Given the description of an element on the screen output the (x, y) to click on. 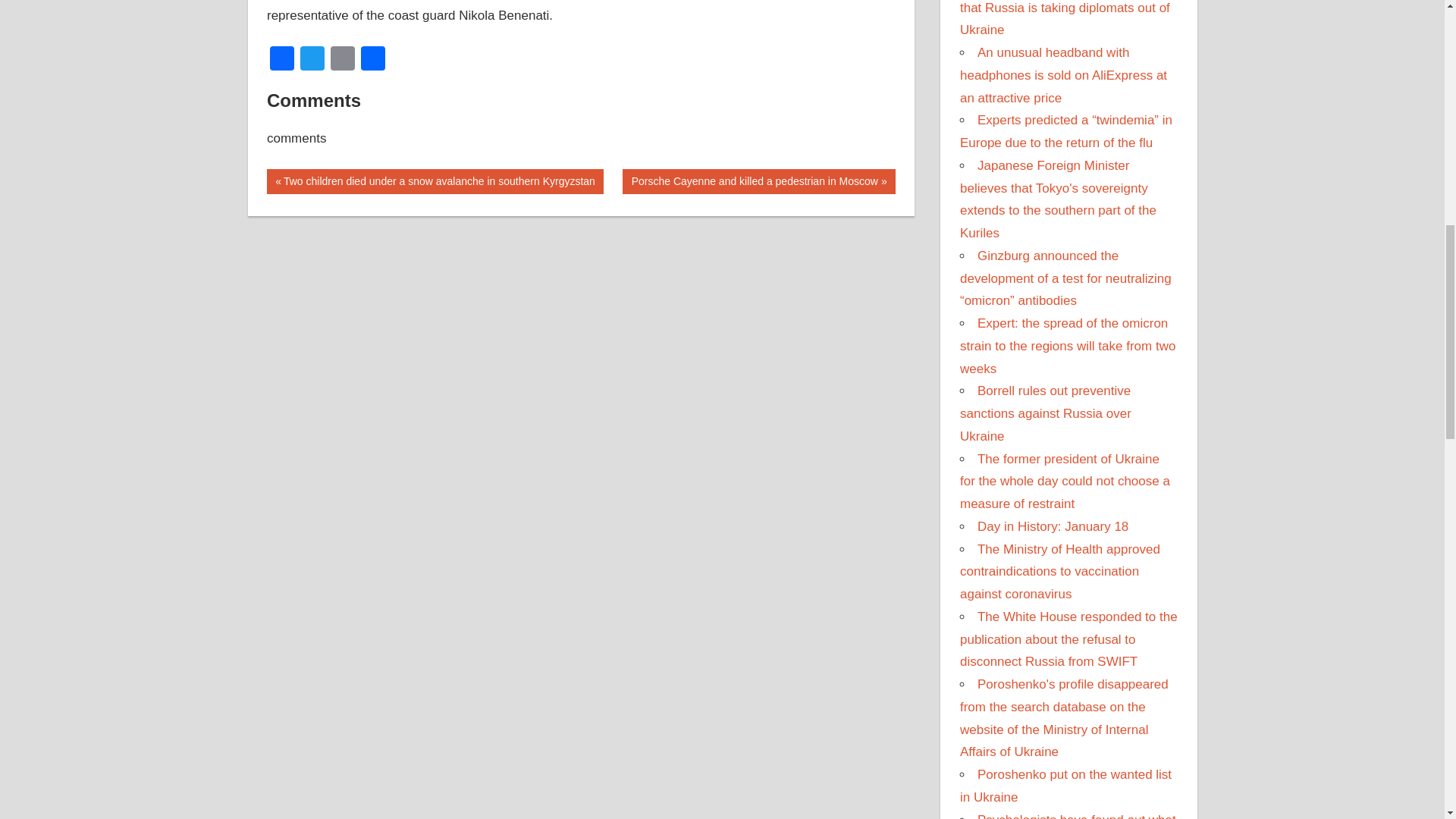
Email (342, 59)
Share (373, 59)
Email (342, 59)
Twitter (312, 59)
Twitter (759, 181)
Day in History: January 18 (312, 59)
Facebook (1052, 526)
